Given the description of an element on the screen output the (x, y) to click on. 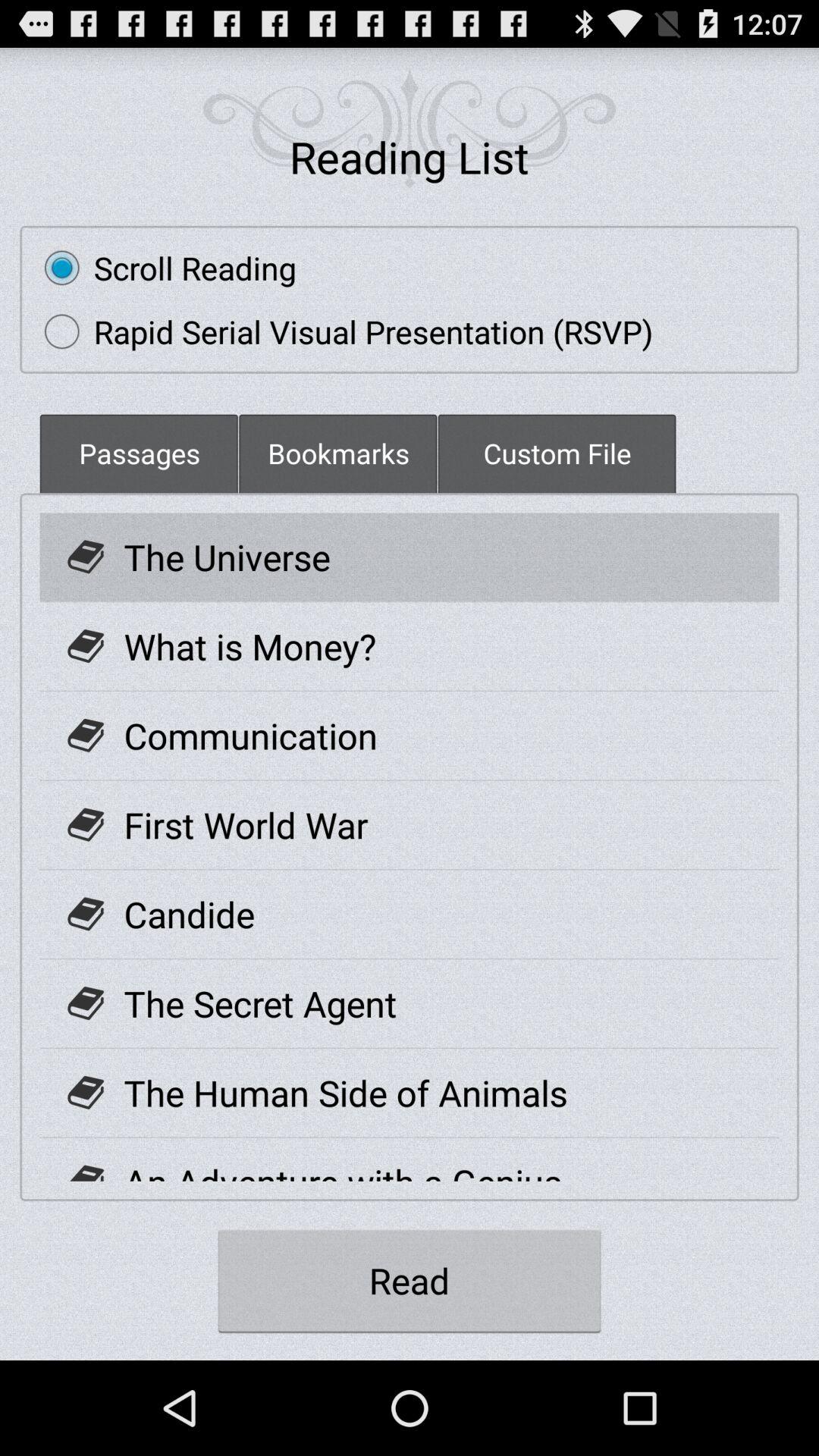
launch the item above passages (341, 331)
